Given the description of an element on the screen output the (x, y) to click on. 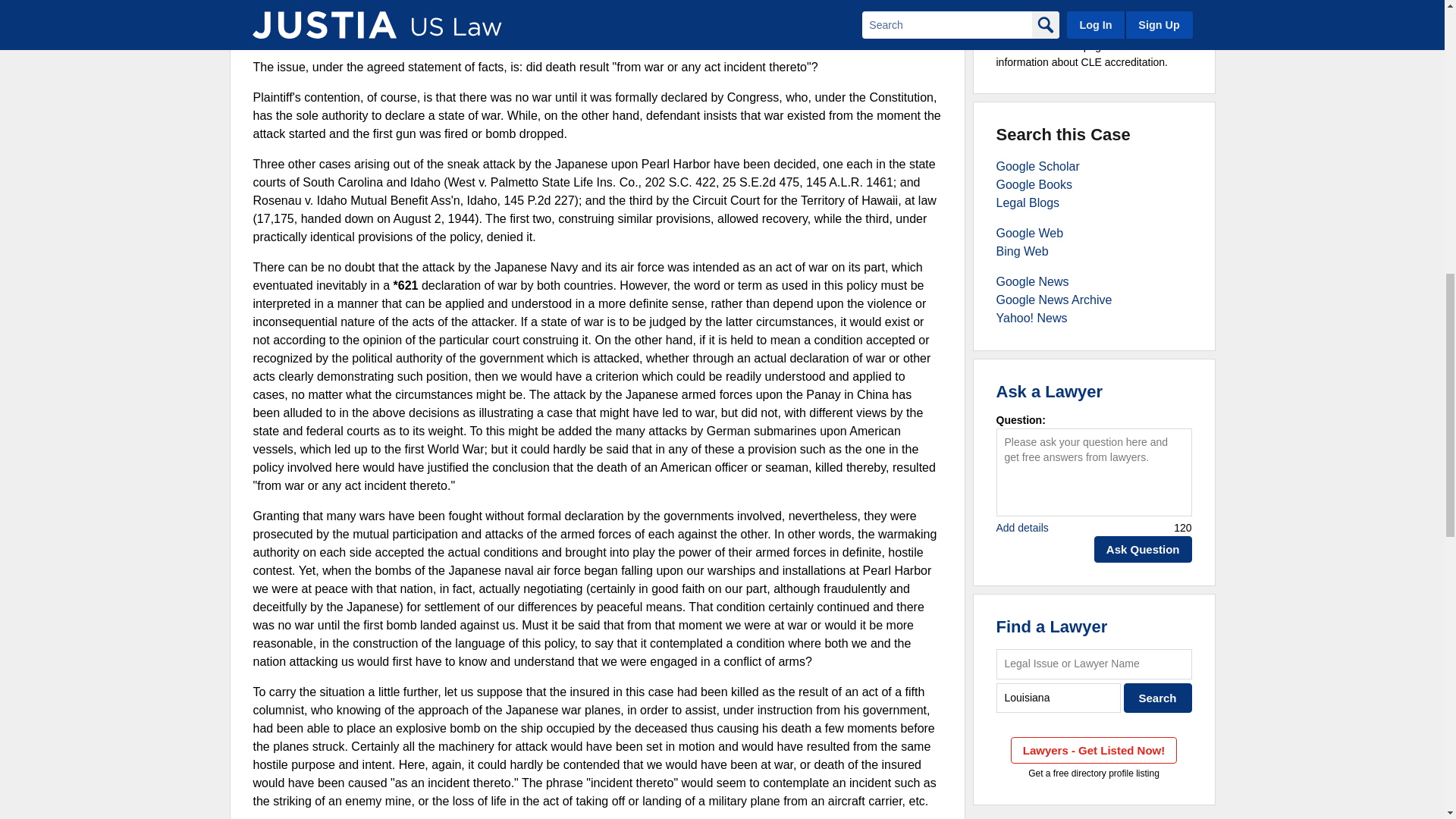
Law - Google Web (1029, 232)
City, State (1058, 697)
Search (1158, 697)
Legal Issue or Lawyer Name (1093, 663)
Law - Google News Archive (1053, 299)
Law - Bing Web (1021, 250)
Law - Google Scholar (1037, 165)
Law - Legal Blogs (1027, 202)
Google Scholar (1037, 165)
Law - Yahoo! News (1031, 318)
Law - Google News (1031, 281)
Louisiana (1058, 697)
Search (1158, 697)
Law - Google Books (1034, 184)
